Given the description of an element on the screen output the (x, y) to click on. 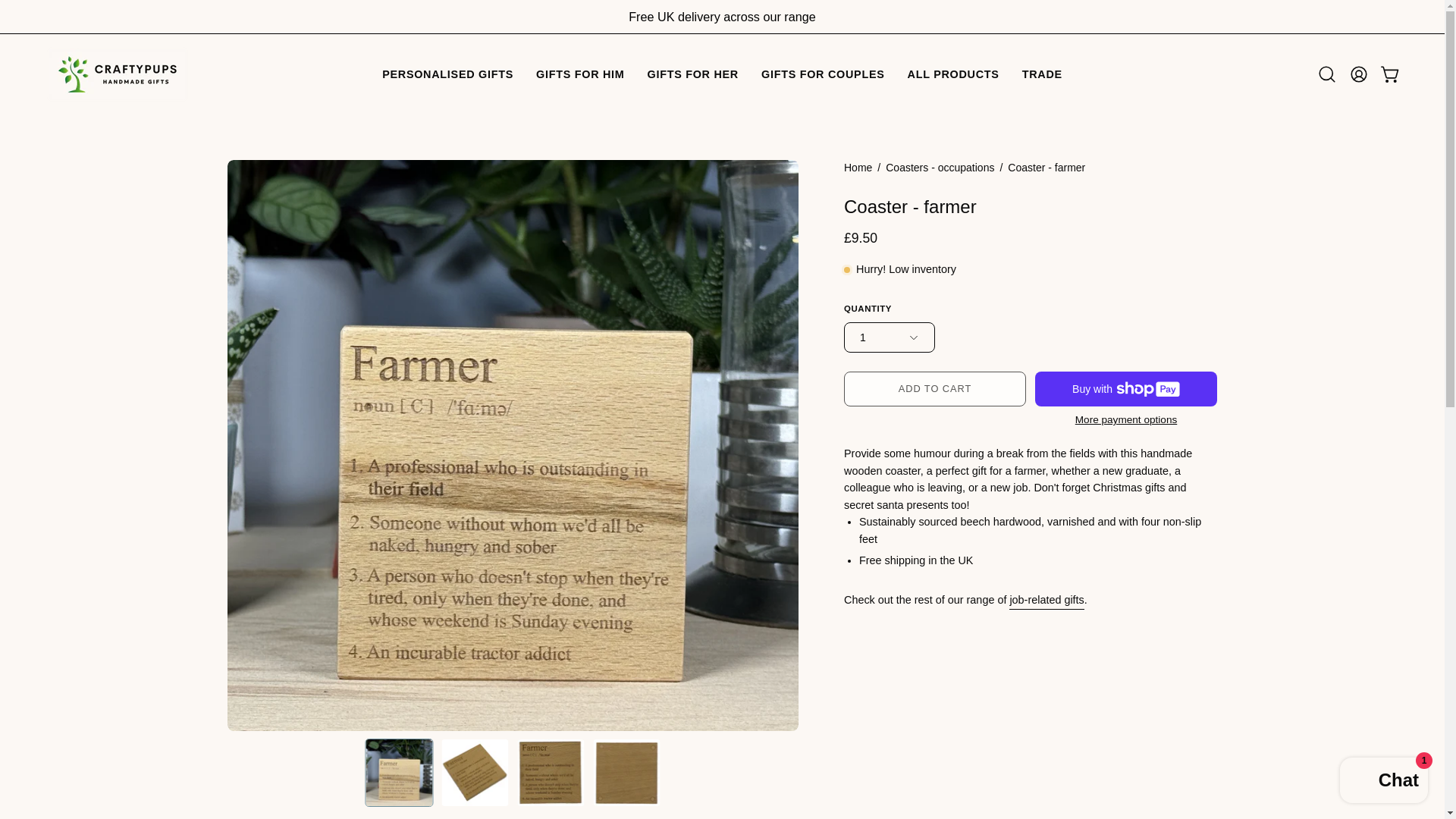
Go back to Home page (858, 167)
Gifts for colleagues graduation new job collection (1046, 600)
Open search bar (1326, 74)
